Given the description of an element on the screen output the (x, y) to click on. 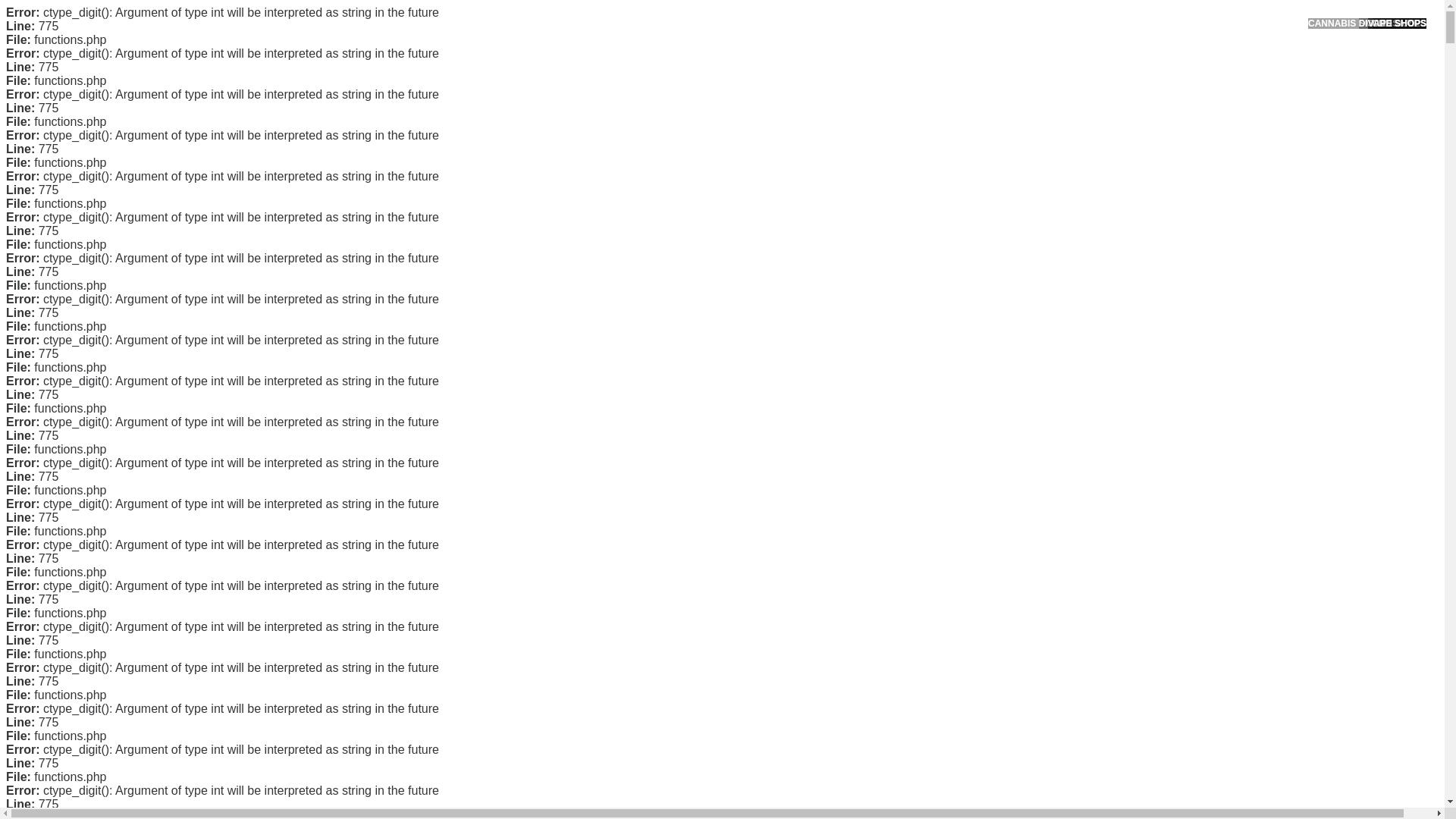
Log in (980, 588)
Privacy Policy (999, 306)
Search (1050, 85)
learn more (592, 571)
Search for: (1049, 47)
Terms of Use (996, 330)
September 2020 (1005, 432)
additional resources (780, 630)
Blog (976, 510)
Latest Article (996, 172)
Search (1050, 85)
Contact Us (991, 258)
Search (1050, 85)
Disclaimer (990, 354)
Skip to content (34, 9)
